Given the description of an element on the screen output the (x, y) to click on. 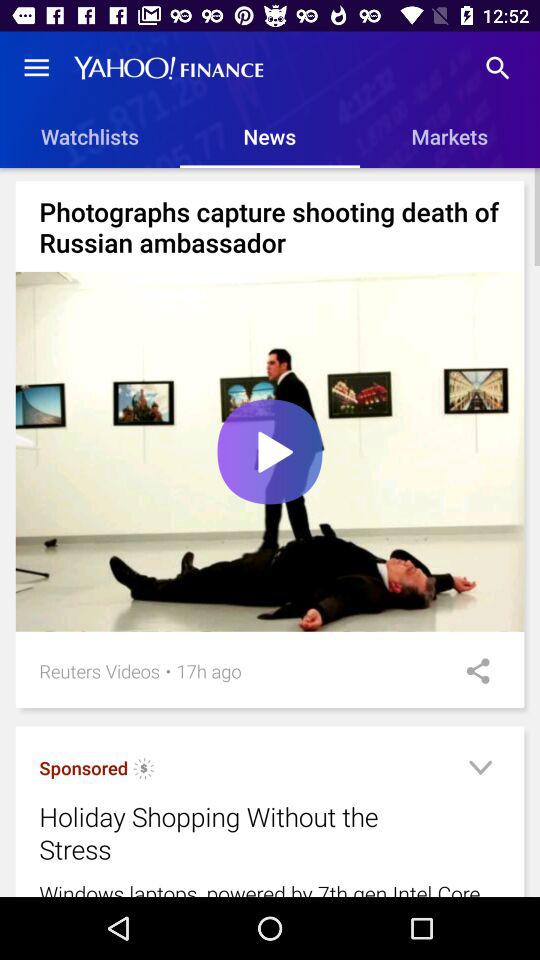
select the icon to the right of the holiday shopping without item (480, 770)
